Given the description of an element on the screen output the (x, y) to click on. 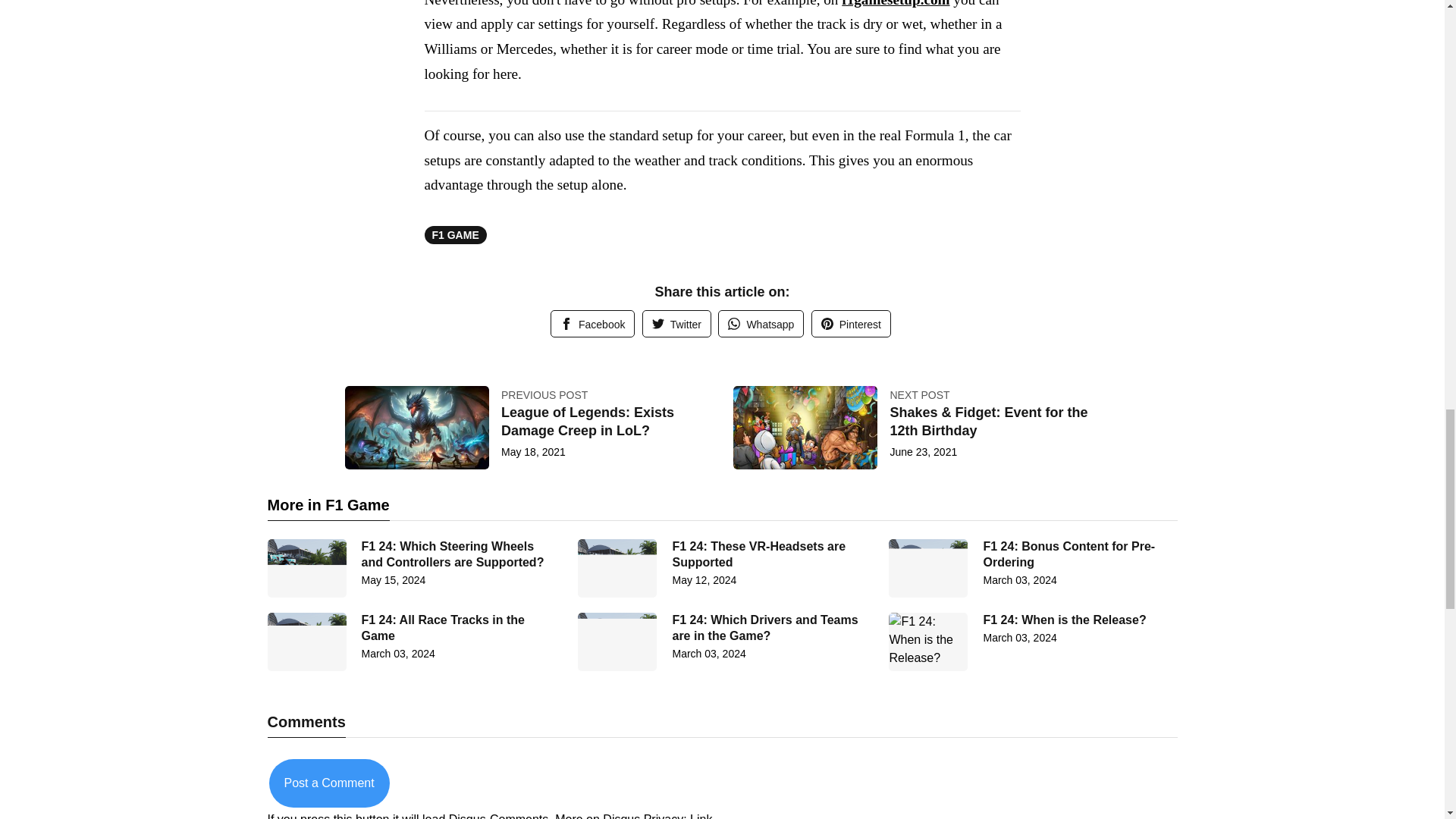
12 May, 2024 (703, 580)
Pinterest (850, 323)
18 May, 2021 (533, 451)
Share on Twitter (676, 323)
f1gamesetup.com (895, 3)
PREVIOUS POST (544, 395)
NEXT POST (919, 395)
More in F1 Game (327, 506)
Share on Pinterest (850, 323)
Share on Whatsapp (760, 323)
